Given the description of an element on the screen output the (x, y) to click on. 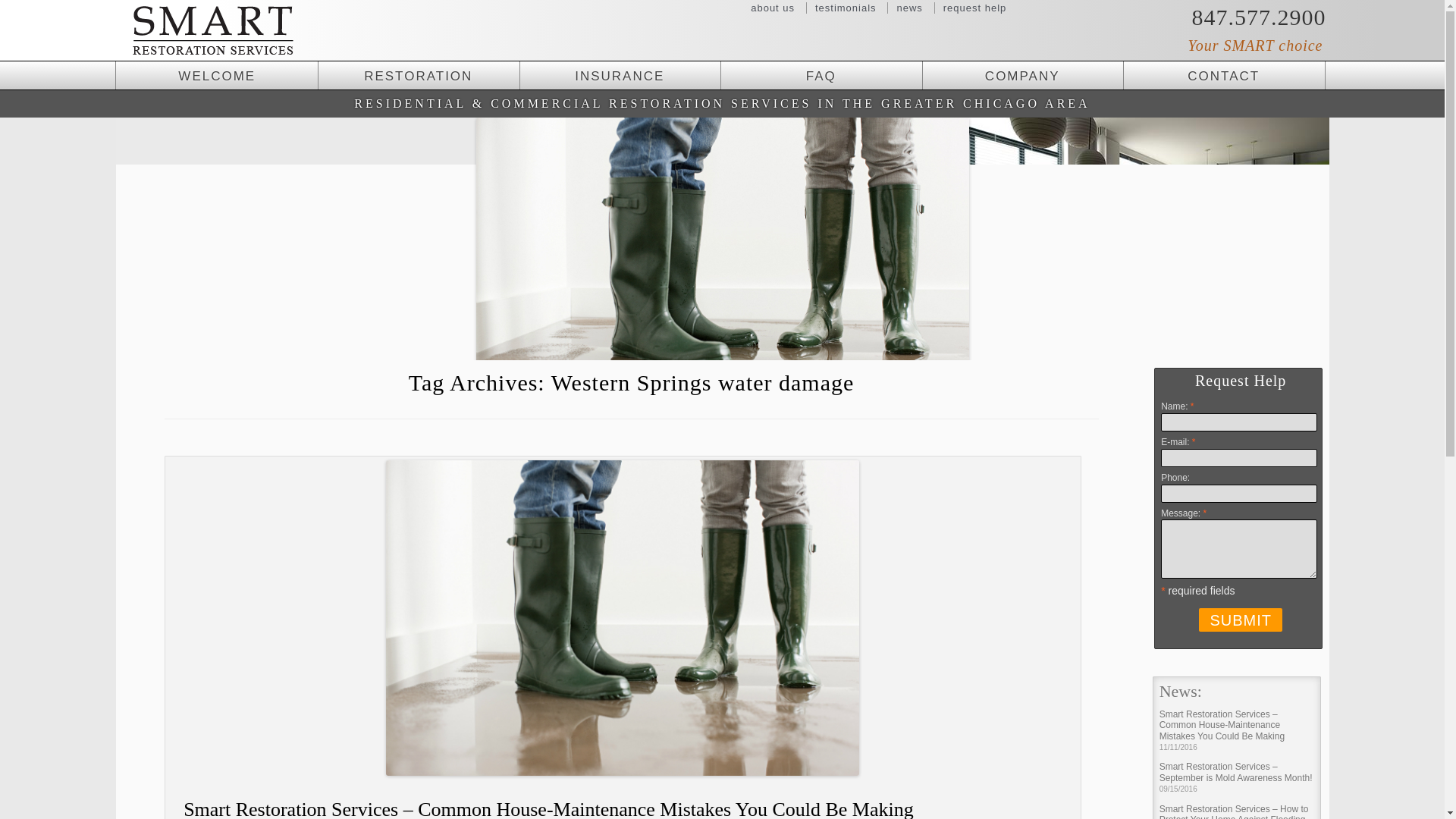
Restoration Services (418, 75)
about us (772, 7)
submit (1240, 619)
RESTORATION (418, 75)
COMPANY (1021, 75)
INSURANCE (619, 75)
847.577.2900 (1229, 15)
FAQ (820, 75)
testimonials (845, 7)
news (908, 7)
CONTACT (1223, 75)
WELCOME (216, 75)
request help (974, 7)
